Given the description of an element on the screen output the (x, y) to click on. 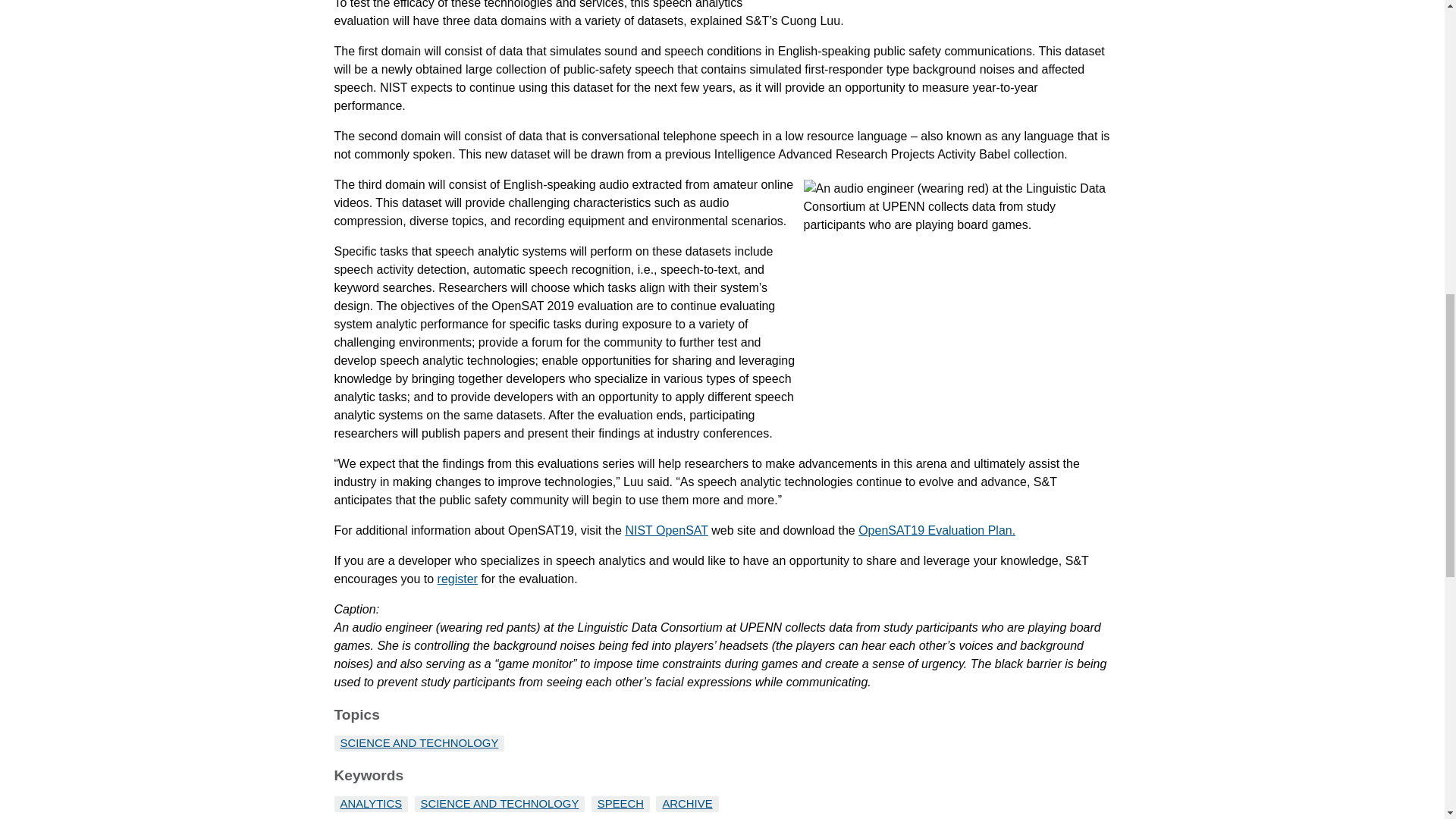
SCIENCE AND TECHNOLOGY (418, 743)
SCIENCE AND TECHNOLOGY (499, 803)
NIST OpenSAT (665, 530)
OpenSAT19 Evaluation Plan. (936, 530)
register (457, 578)
ANALYTICS (370, 803)
SPEECH (619, 803)
ARCHIVE (686, 803)
